Given the description of an element on the screen output the (x, y) to click on. 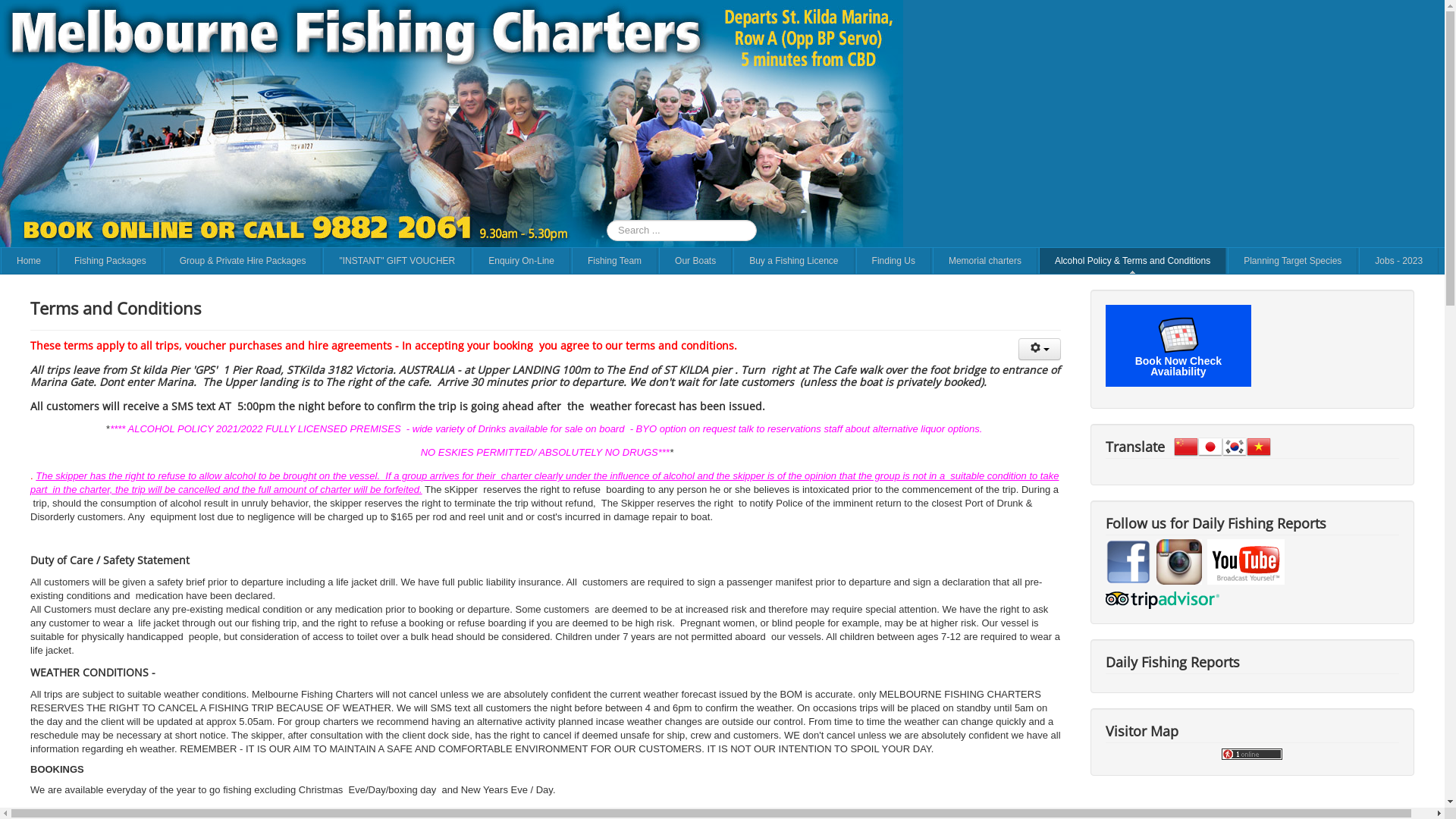
Book Now Check Availability Element type: text (1178, 345)
instagram Element type: hover (1178, 560)
Memorial charters Element type: text (984, 260)
Group & Private Hire Packages Element type: text (242, 260)
"INSTANT" GIFT VOUCHER Element type: text (396, 260)
Home Element type: text (28, 260)
Planning Target Species Element type: text (1292, 260)
Our Boats Element type: text (694, 260)
Alcohol Policy & Terms and Conditions Element type: text (1132, 260)
Fishing Team Element type: text (614, 260)
Jobs - 2023 Element type: text (1398, 260)
Finding Us Element type: text (893, 260)
Buy a Fishing Licence Element type: text (793, 260)
Enquiry On-Line Element type: text (521, 260)
Fishing Packages Element type: text (110, 260)
TripAdvisor Element type: hover (1162, 599)
